Given the description of an element on the screen output the (x, y) to click on. 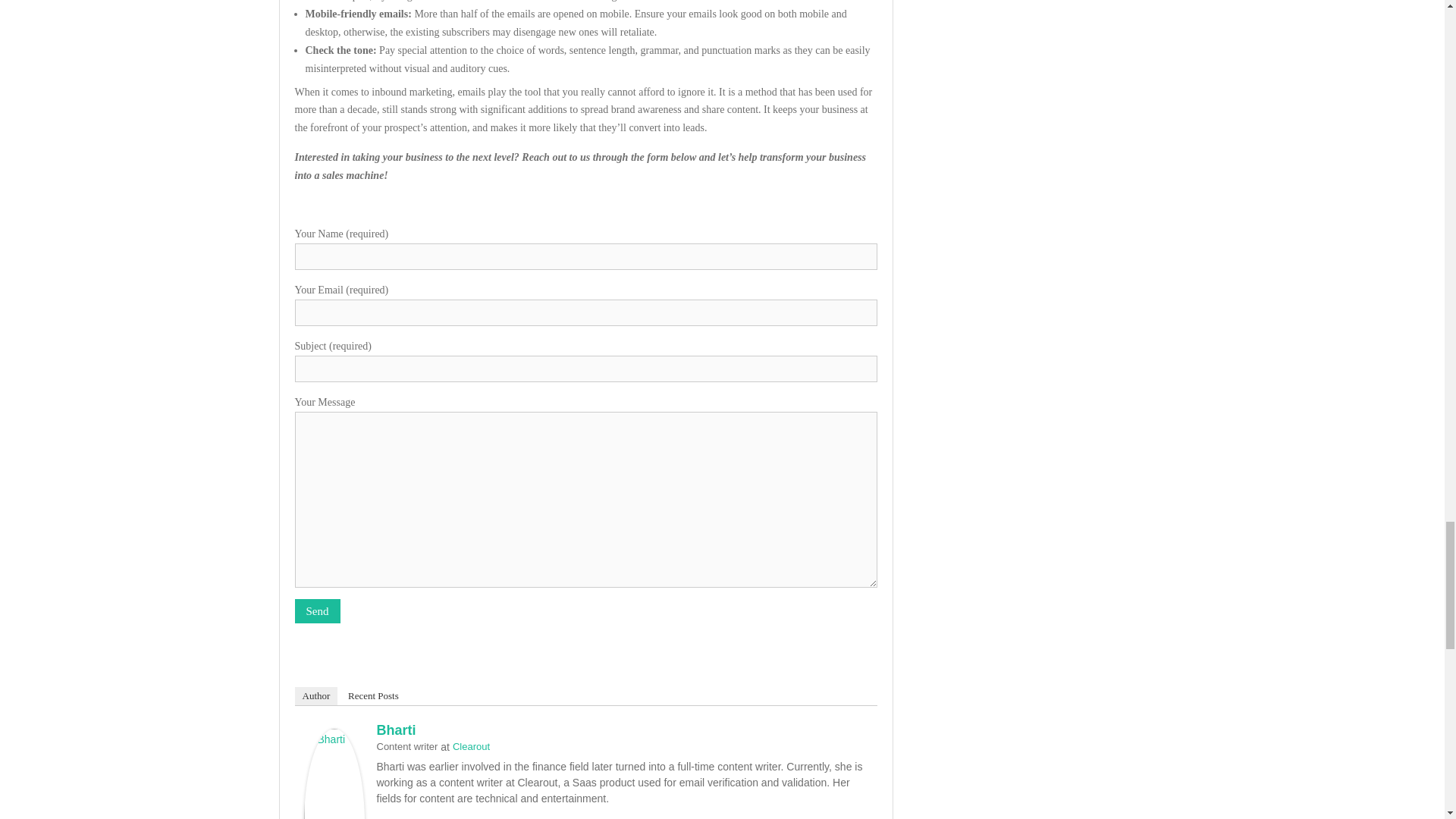
Recent Posts (373, 696)
Author (315, 696)
Send (316, 611)
Send (316, 611)
Clearout (470, 746)
Bharti (394, 729)
